Given the description of an element on the screen output the (x, y) to click on. 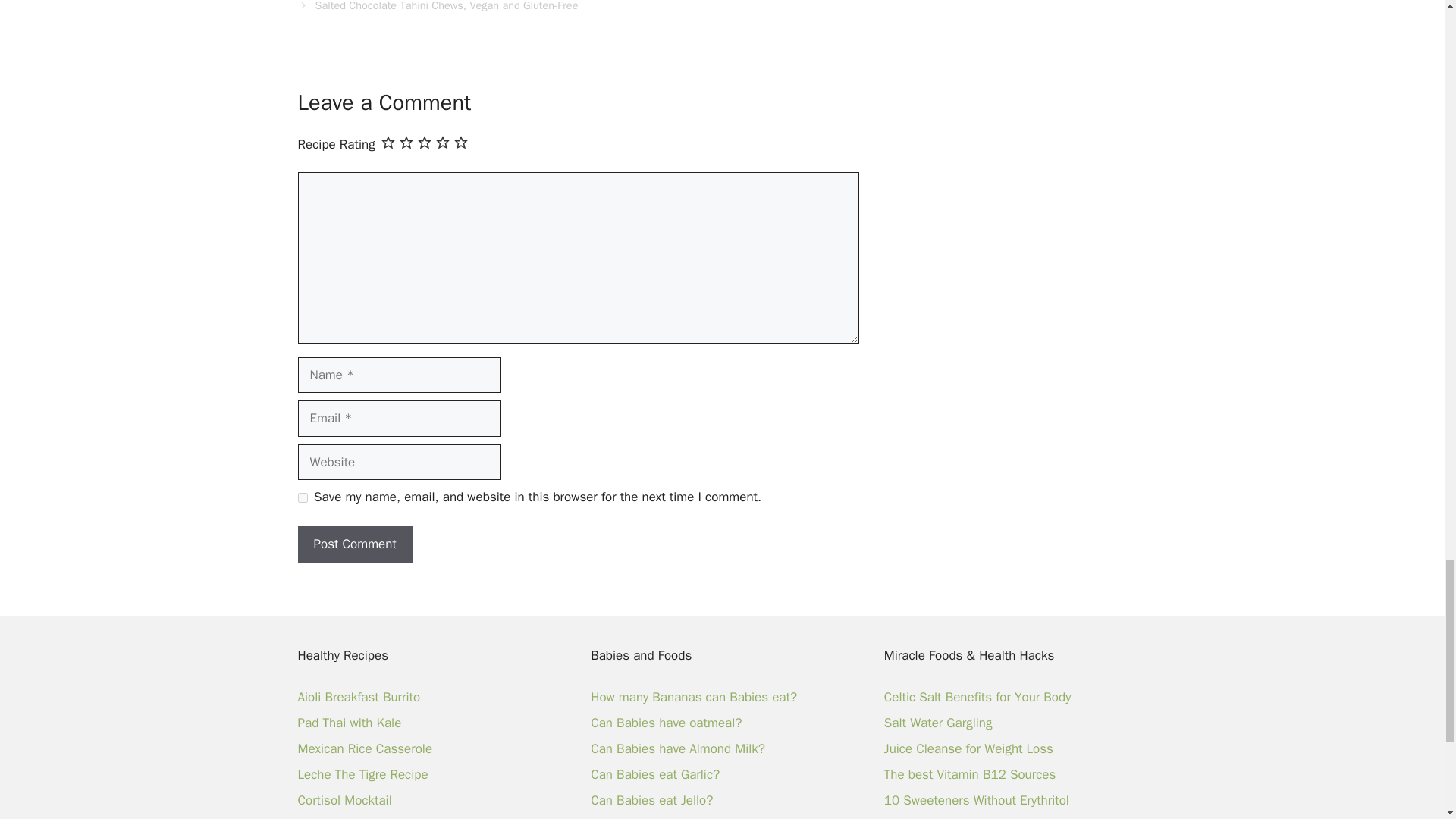
yes (302, 497)
Post Comment (354, 544)
